Given the description of an element on the screen output the (x, y) to click on. 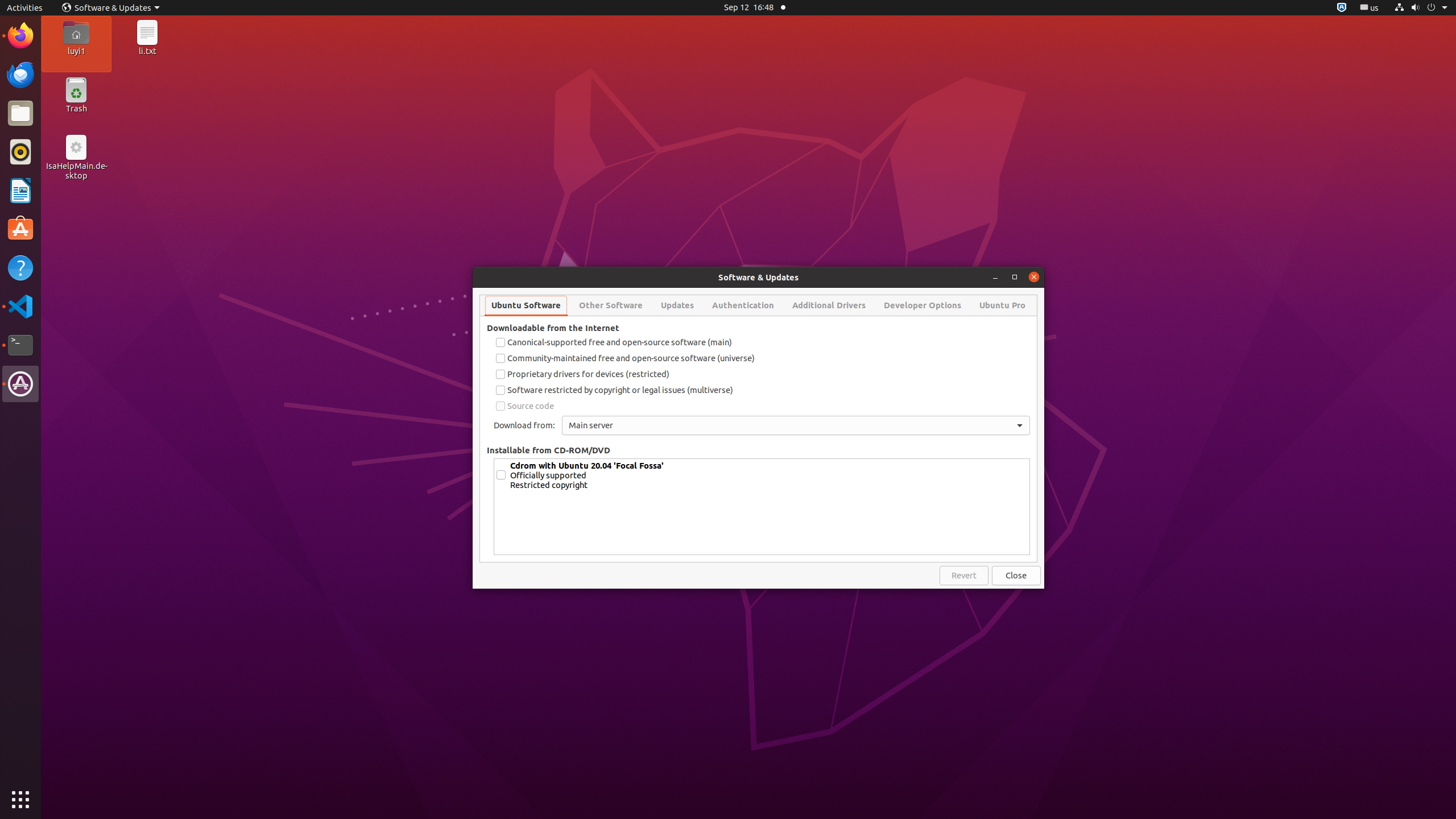
Downloadable from the Internet Element type: label (552, 327)
luyi1 Element type: label (75, 50)
li.txt Element type: label (146, 50)
Authentication Element type: page-tab (743, 304)
